Given the description of an element on the screen output the (x, y) to click on. 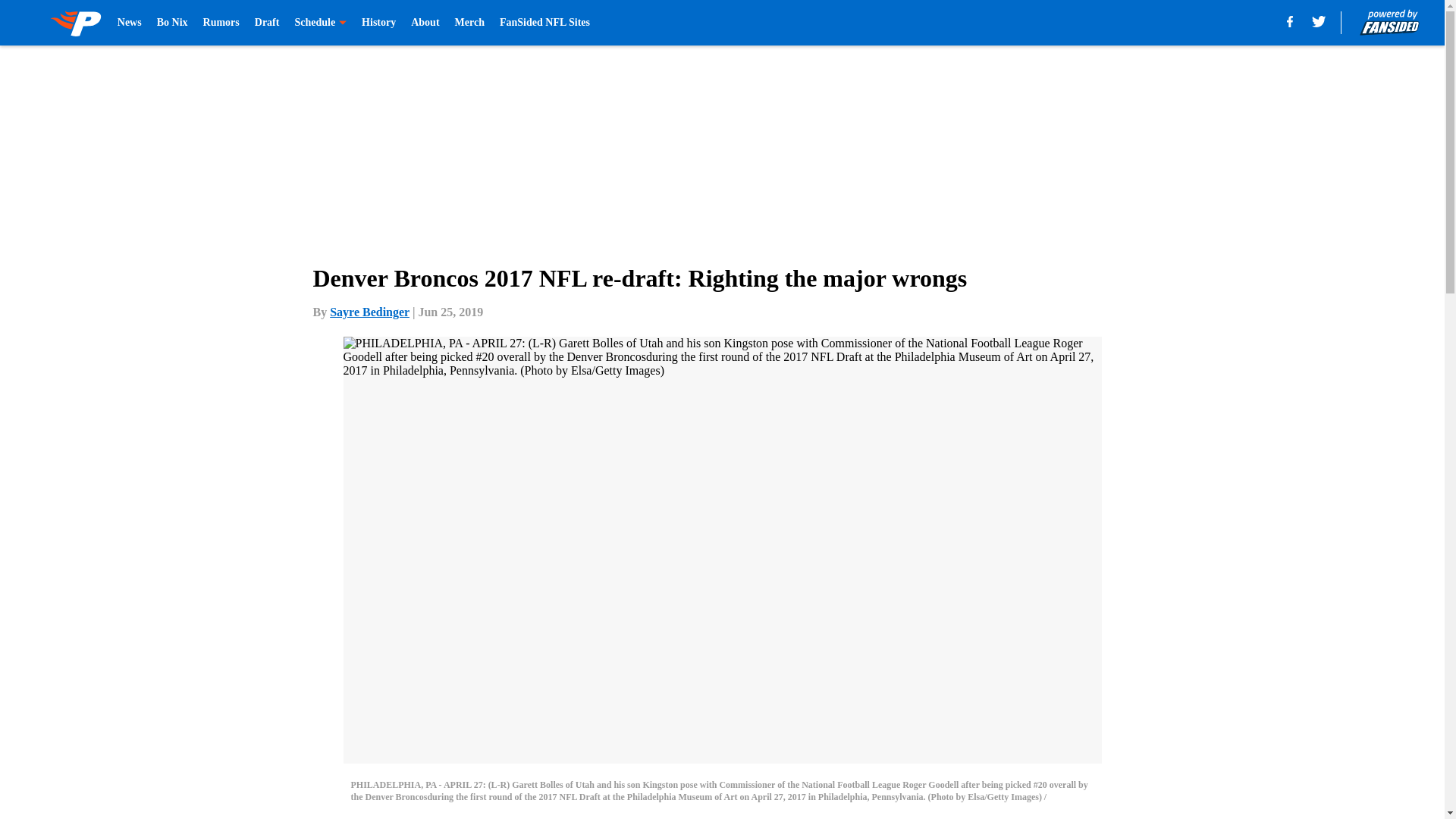
Sayre Bedinger (369, 311)
History (378, 22)
Bo Nix (172, 22)
Rumors (221, 22)
News (129, 22)
About (424, 22)
Draft (266, 22)
FanSided NFL Sites (544, 22)
Merch (469, 22)
